Given the description of an element on the screen output the (x, y) to click on. 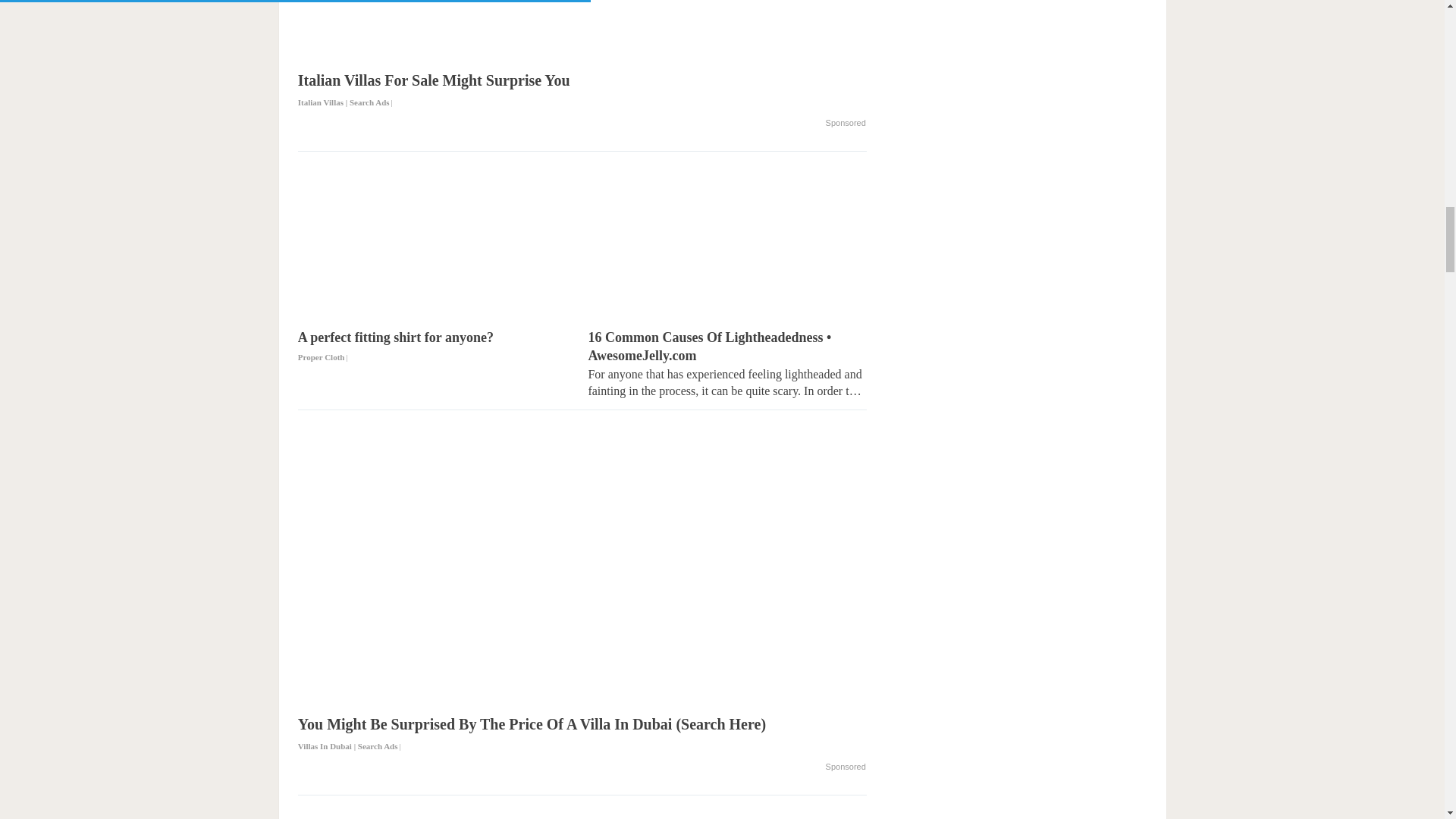
A perfect fitting shirt for anyone? (437, 347)
Sponsored (845, 123)
Italian Villas For Sale Might Surprise You (582, 91)
